Given the description of an element on the screen output the (x, y) to click on. 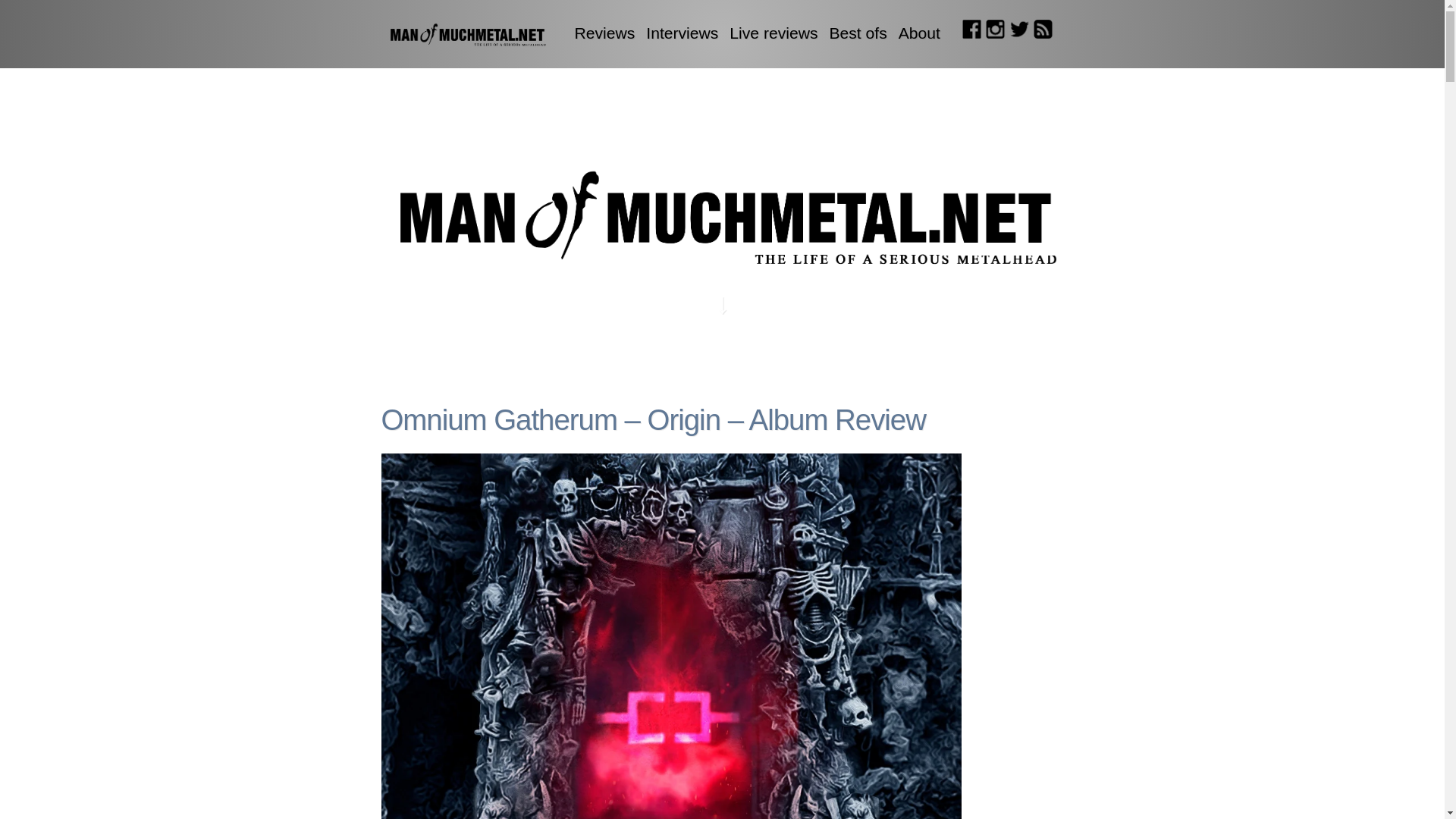
About (919, 32)
Reviews (604, 32)
Interviews (681, 32)
Live reviews (772, 32)
Best ofs (857, 32)
